Given the description of an element on the screen output the (x, y) to click on. 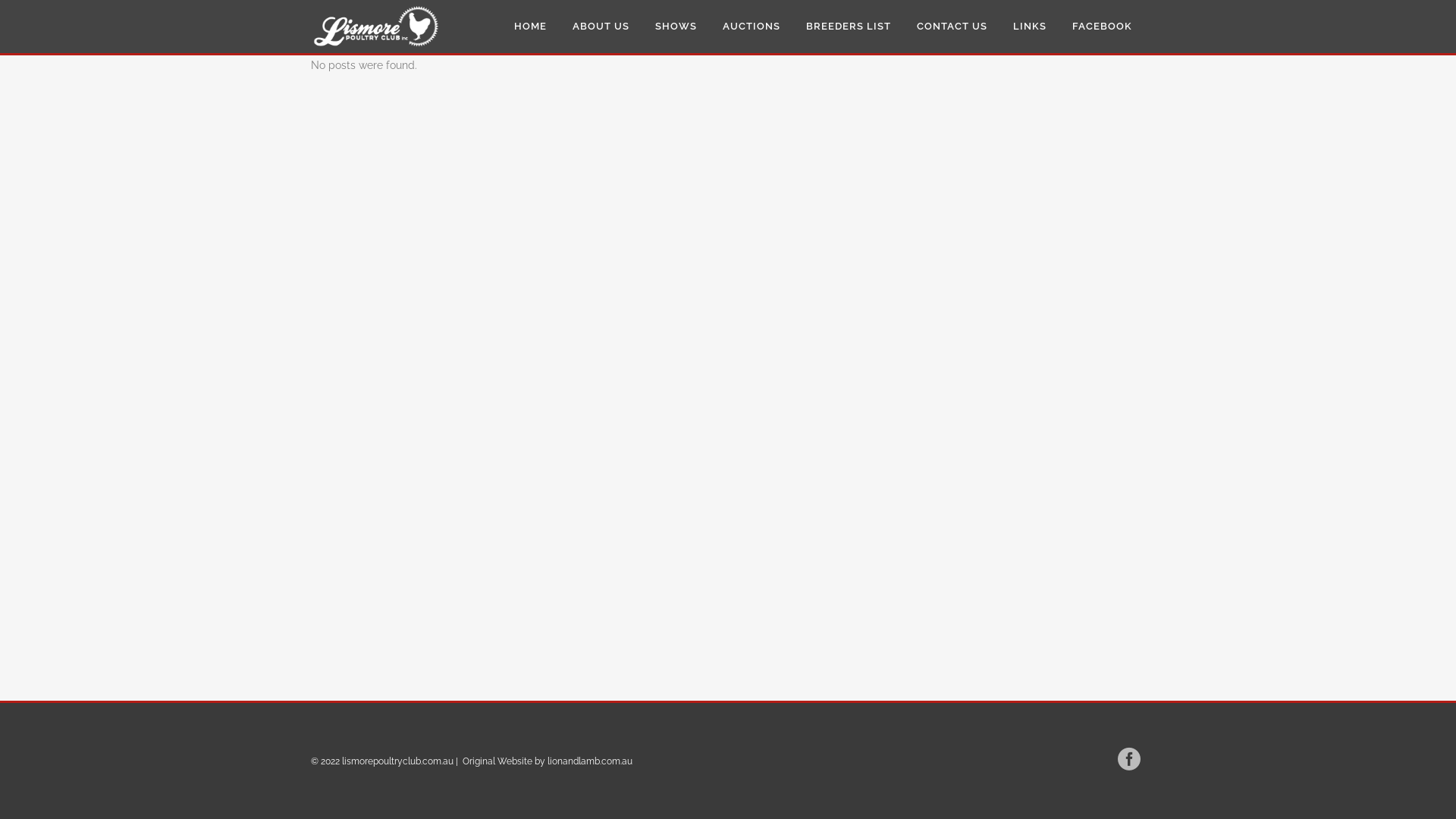
BREEDERS LIST Element type: text (848, 26)
lionandlamb.com.au Element type: text (589, 760)
CONTACT US Element type: text (951, 26)
SHOWS Element type: text (675, 26)
ABOUT US Element type: text (600, 26)
HOME Element type: text (530, 26)
FACEBOOK Element type: text (1102, 26)
lismorepoultryclub.com.au Element type: text (397, 760)
LINKS Element type: text (1029, 26)
AUCTIONS Element type: text (751, 26)
